Given the description of an element on the screen output the (x, y) to click on. 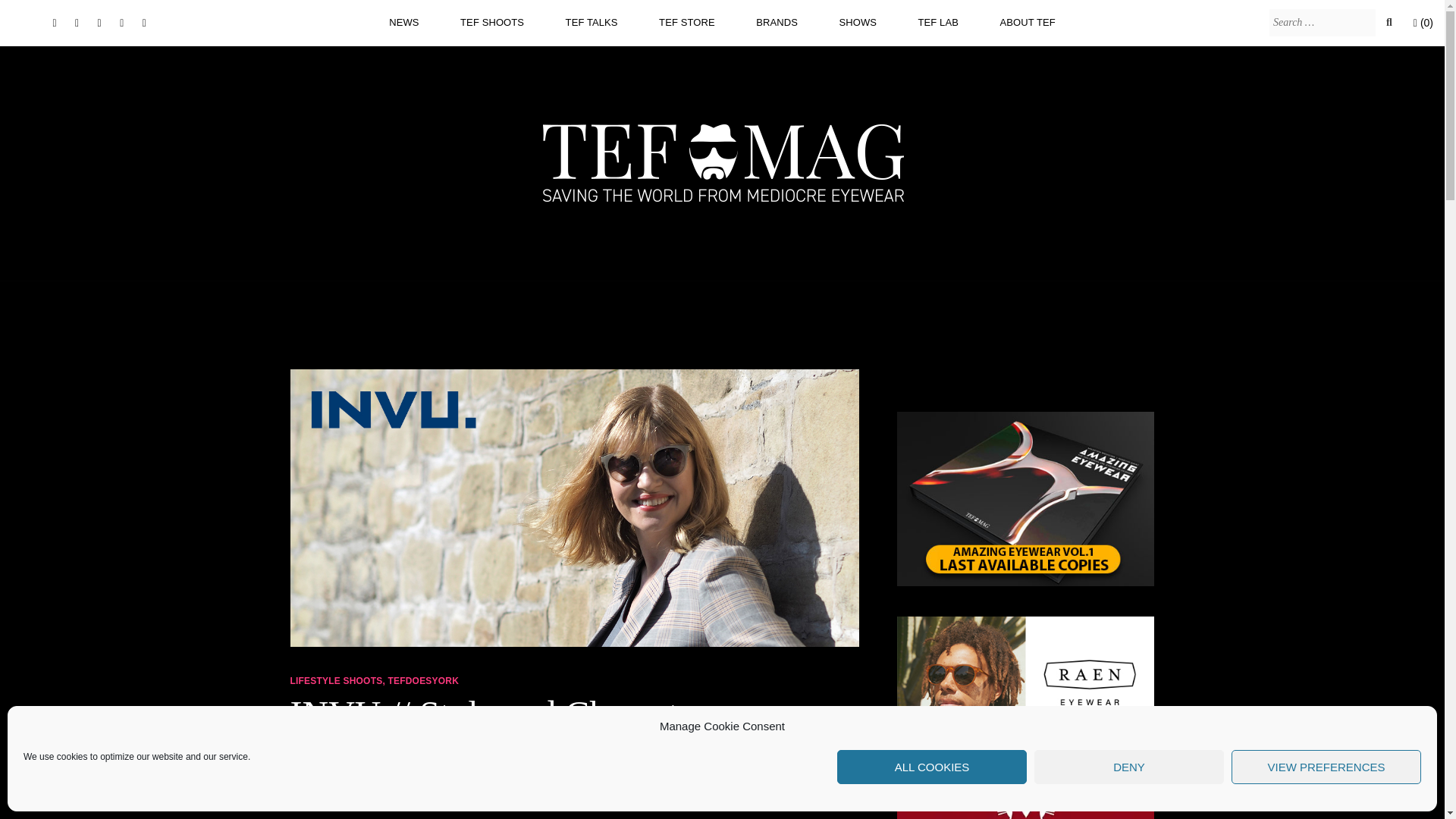
BRANDS (776, 22)
TEF TALKS (592, 22)
TEF SHOOTS (492, 22)
TEF STORE (686, 22)
9.100 followers (99, 22)
ALL COOKIES (931, 766)
VIEW PREFERENCES (1326, 766)
13.500 opticians (54, 22)
SHOWS (857, 22)
3.200 impressions (121, 22)
37.500 followers (75, 22)
NEWS (403, 22)
DENY (1128, 766)
